Given the description of an element on the screen output the (x, y) to click on. 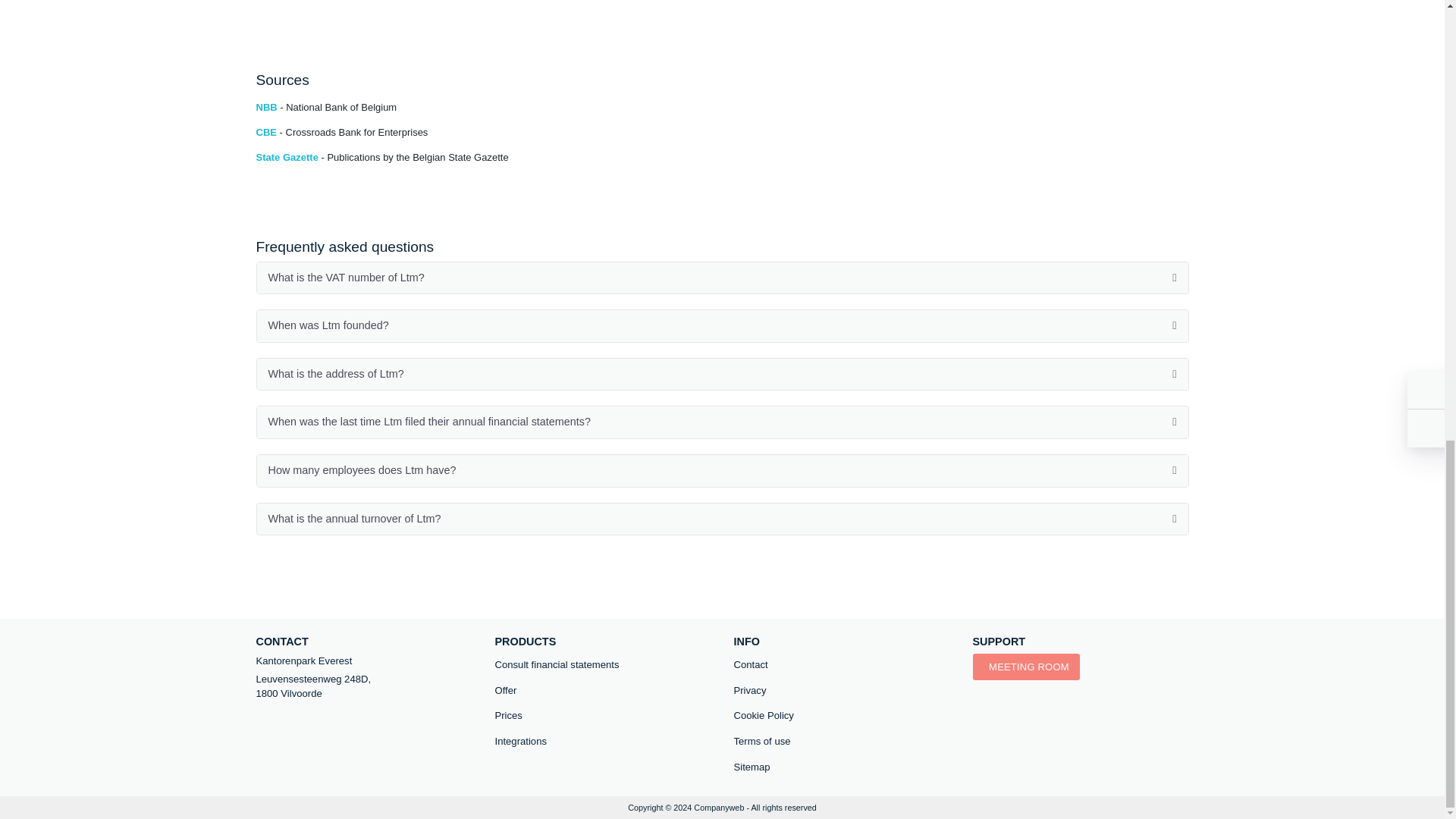
Terms of use (841, 741)
Cookie Policy (841, 715)
NBB - National Bank of Belgium (326, 107)
Privacy (841, 690)
  MEETING ROOM (1025, 666)
Sitemap (841, 766)
Consult financial statements (602, 664)
State Gazette - Publications by the Belgian State Gazette (382, 156)
CBE - Crossroads Bank for Enterprises (342, 132)
Offer (602, 690)
Integrations (602, 741)
Prices (602, 715)
Contact (841, 664)
